Given the description of an element on the screen output the (x, y) to click on. 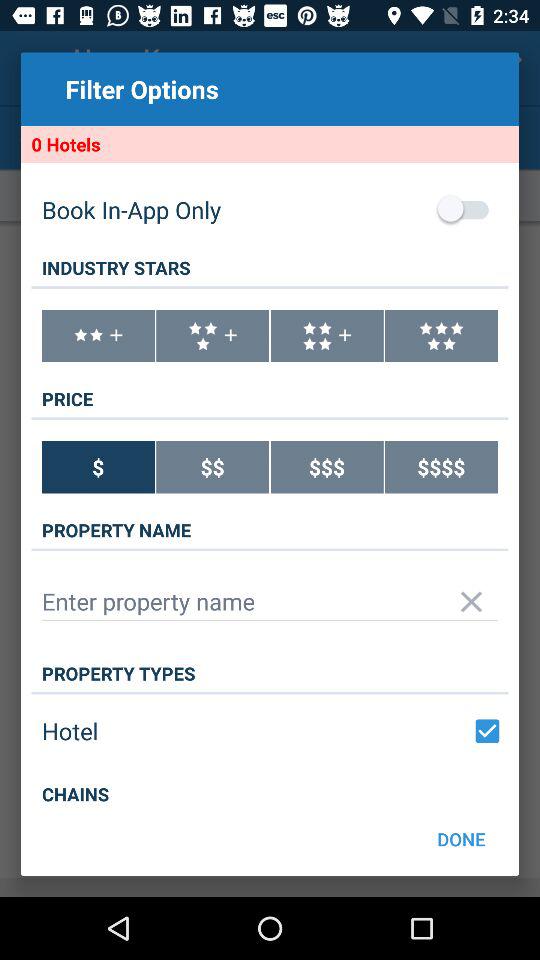
close option (471, 601)
